Given the description of an element on the screen output the (x, y) to click on. 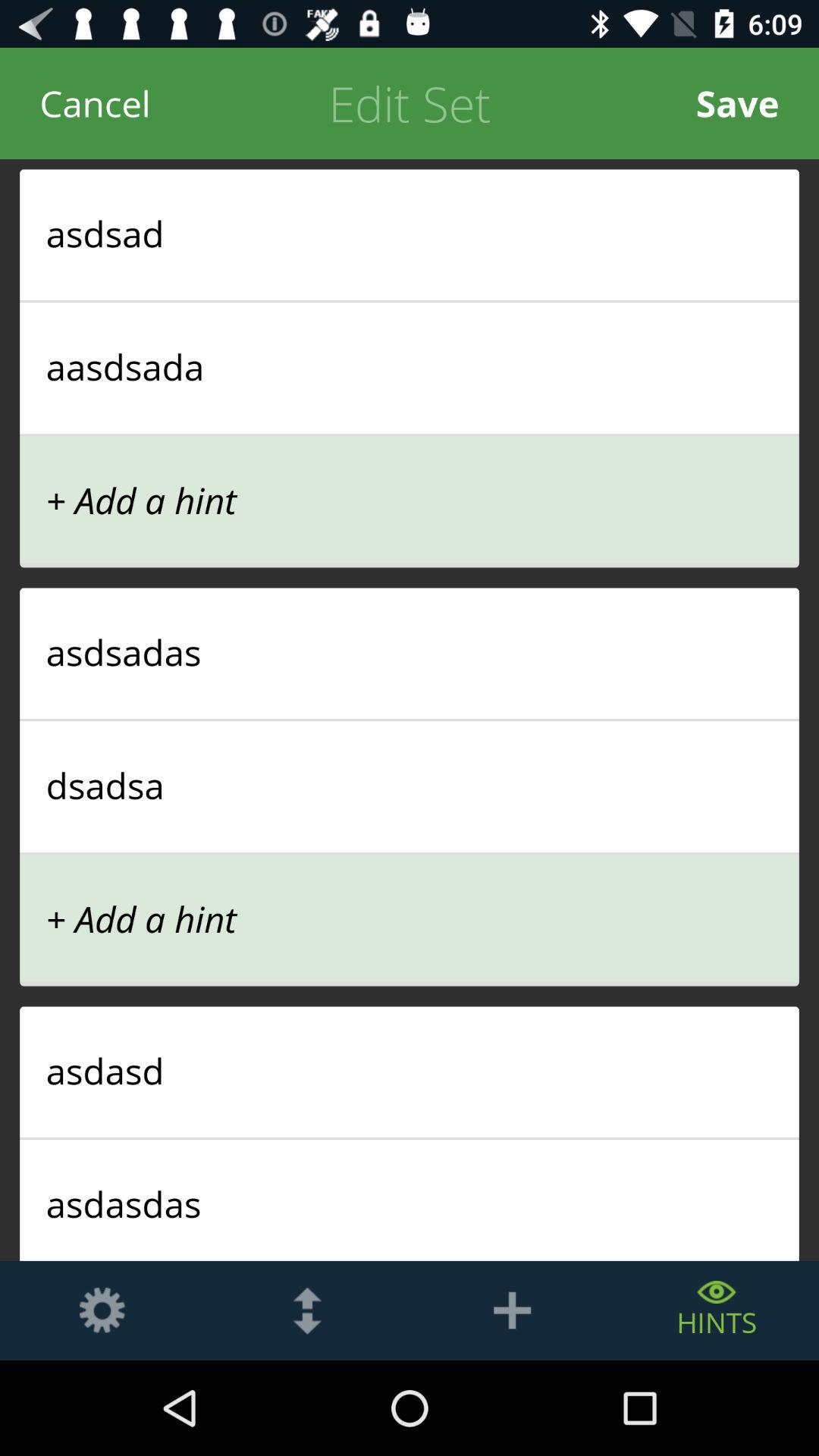
click save (737, 103)
